Given the description of an element on the screen output the (x, y) to click on. 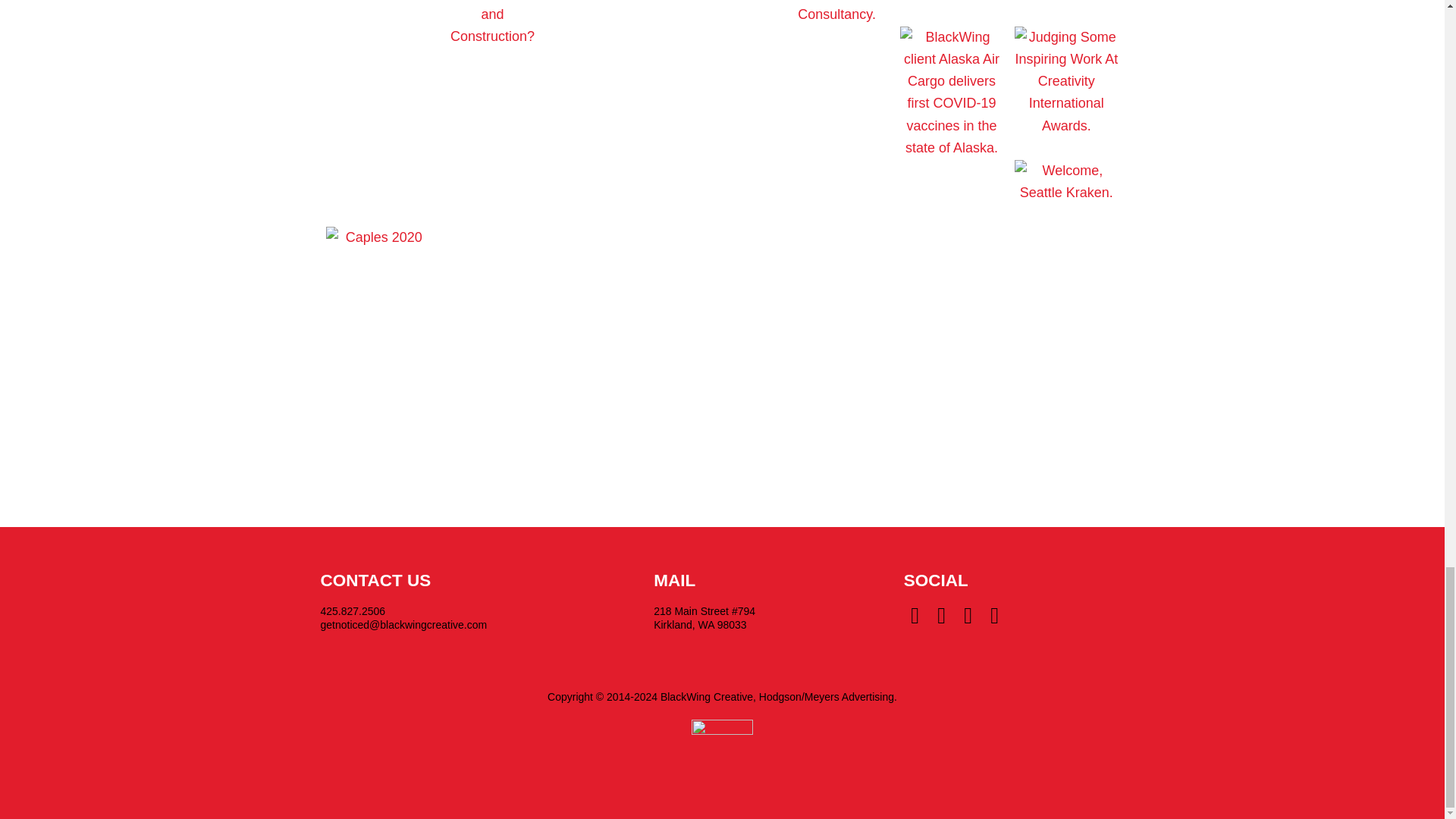
A Bold New Brand For A Thriving Healthcare Consultancy. (836, 14)
Welcome, Seattle Kraken. (1066, 192)
